Given the description of an element on the screen output the (x, y) to click on. 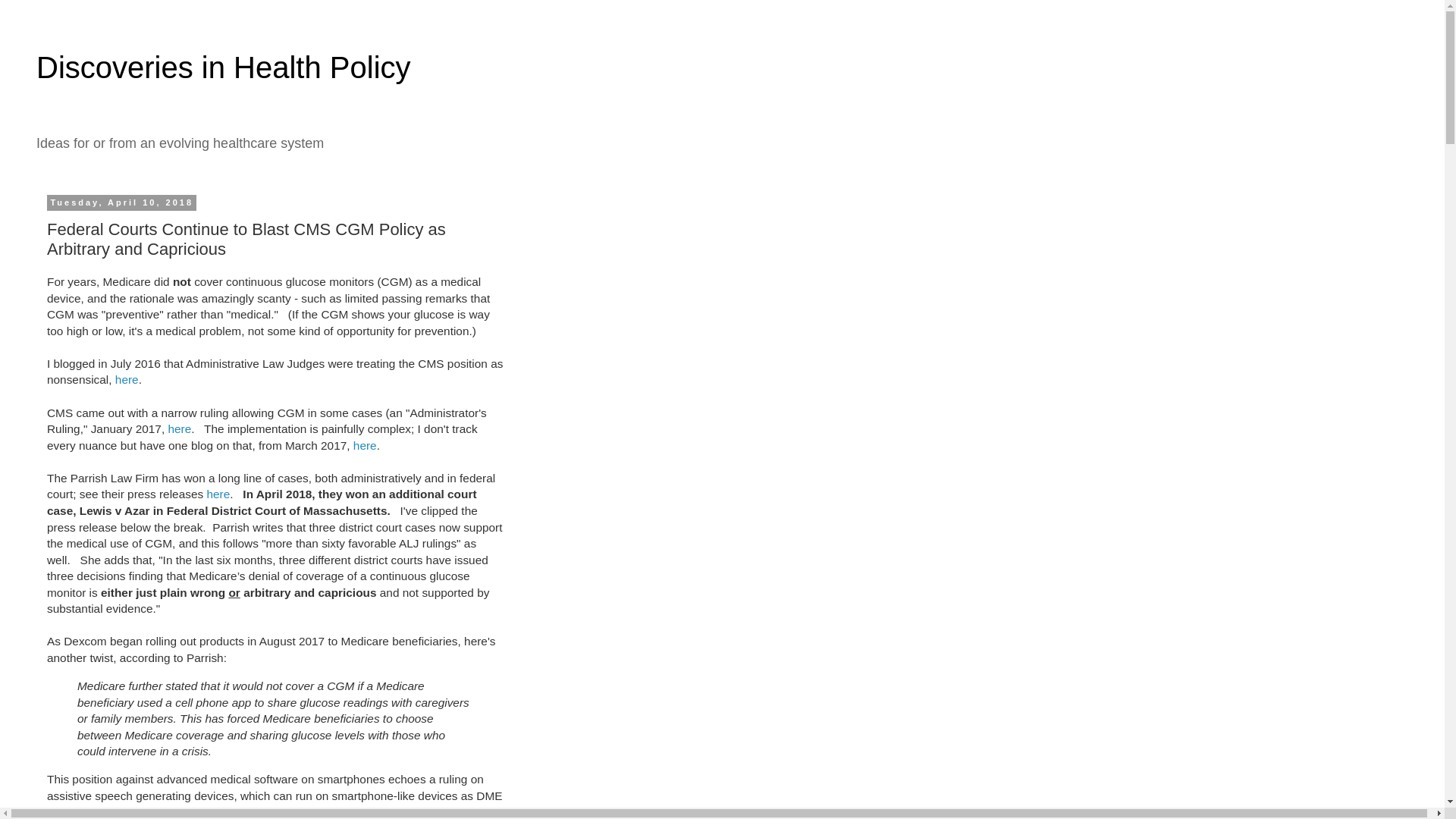
here (178, 428)
Discoveries in Health Policy (223, 67)
here (218, 493)
here (126, 379)
only if every possible function of the device is disabled (206, 811)
here (365, 445)
